Given the description of an element on the screen output the (x, y) to click on. 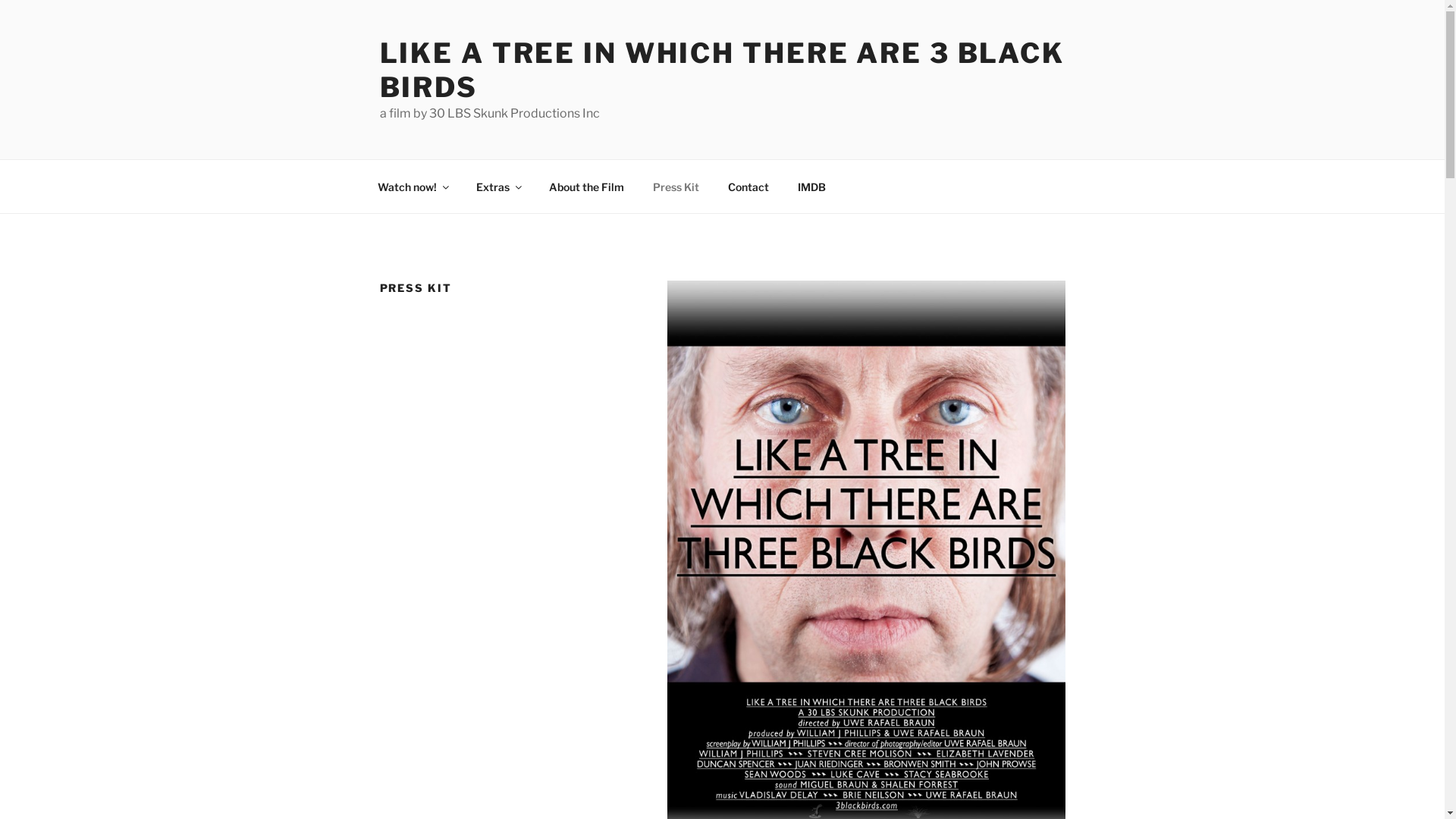
Watch now! Element type: text (412, 186)
About the Film Element type: text (586, 186)
LIKE A TREE IN WHICH THERE ARE 3 BLACK BIRDS Element type: text (721, 69)
Extras Element type: text (497, 186)
Contact Element type: text (747, 186)
Press Kit Element type: text (676, 186)
IMDB Element type: text (811, 186)
